Given the description of an element on the screen output the (x, y) to click on. 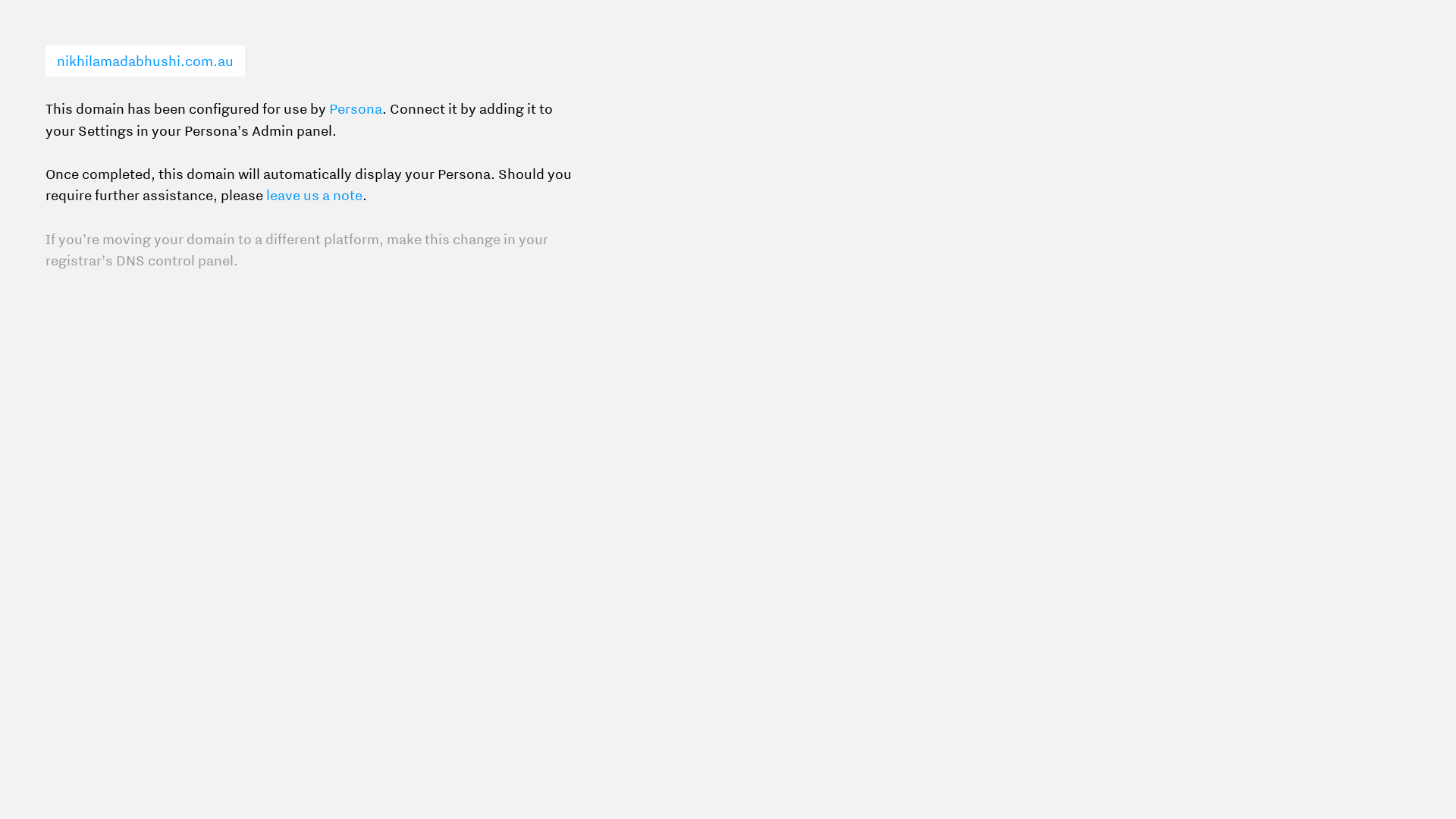
Persona Element type: text (355, 108)
leave us a note Element type: text (314, 194)
